Given the description of an element on the screen output the (x, y) to click on. 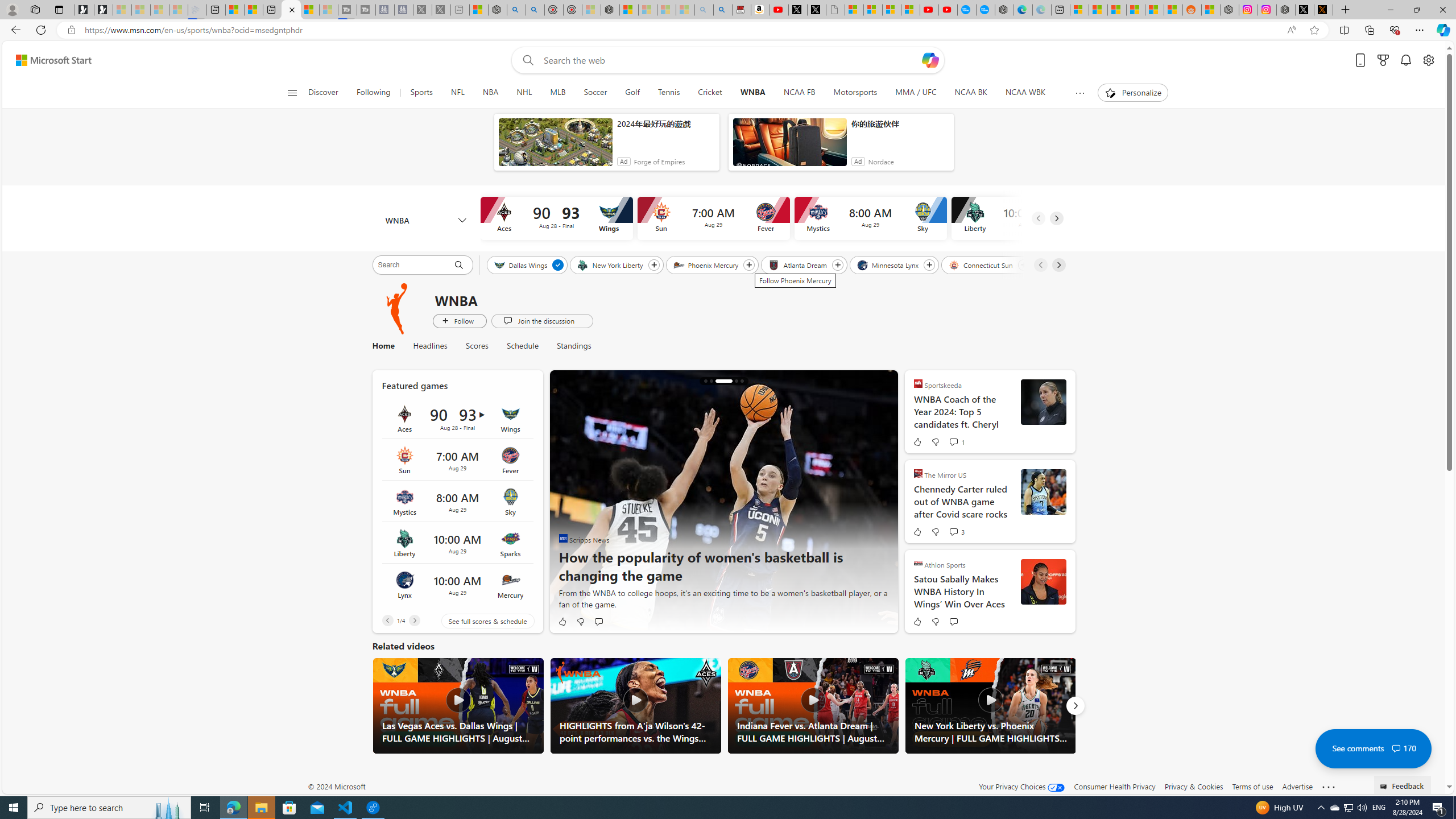
NBA (490, 92)
NCAA UConn Iowa Basketball</img (723, 501)
Schedule (522, 345)
Aces 90 vs Wings 93Final Date Aug 28 (456, 418)
WNBA (425, 220)
Sun vs Fever Time 7:00 AM Date Aug 29 (456, 459)
Connecticut Sun (982, 264)
Streaming Coverage | T3 - Sleeping (347, 9)
next (882, 501)
